Given the description of an element on the screen output the (x, y) to click on. 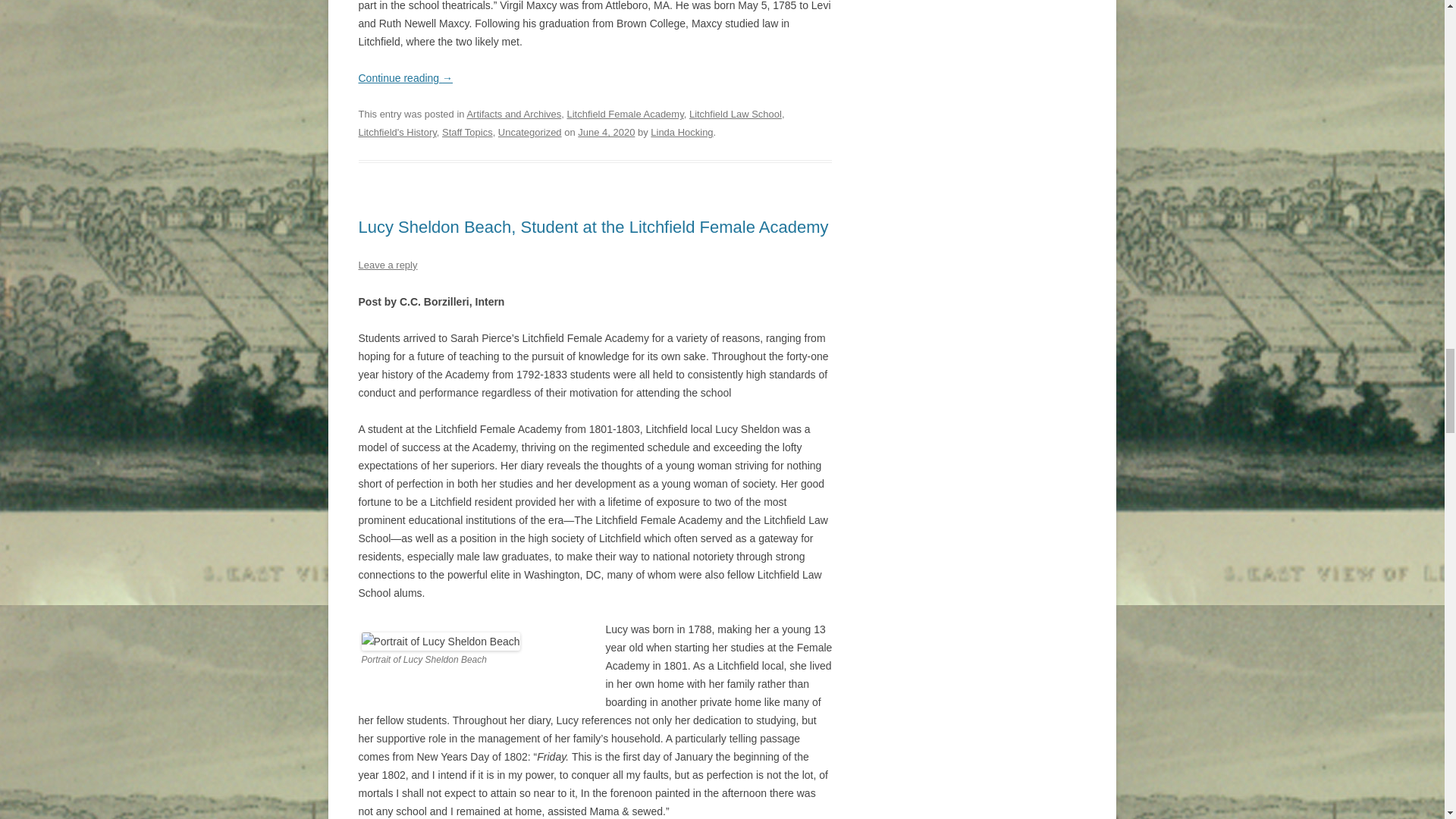
Litchfield Law School (734, 113)
12:00 pm (606, 132)
Lucy Sheldon Beach, Student at the Litchfield Female Academy (593, 226)
Uncategorized (529, 132)
Linda Hocking (681, 132)
Leave a reply (387, 265)
Artifacts and Archives (512, 113)
Litchfield's History (396, 132)
Litchfield Female Academy (624, 113)
June 4, 2020 (606, 132)
Staff Topics (467, 132)
View all posts by Linda Hocking (681, 132)
